Given the description of an element on the screen output the (x, y) to click on. 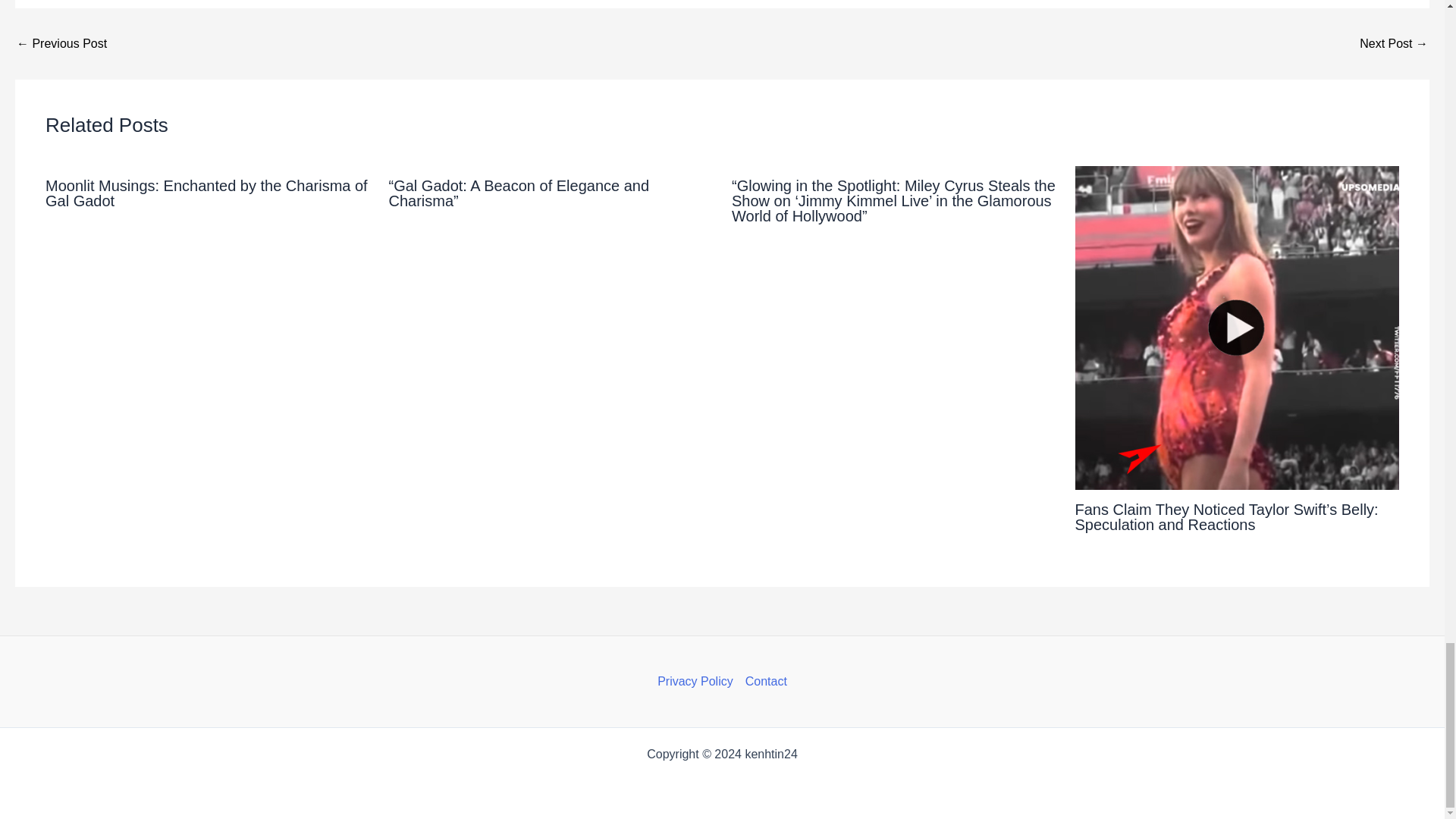
Contact (763, 681)
Privacy Policy (698, 681)
Moonlit Musings: Enchanted by the Charisma of Gal Gadot (206, 193)
